Given the description of an element on the screen output the (x, y) to click on. 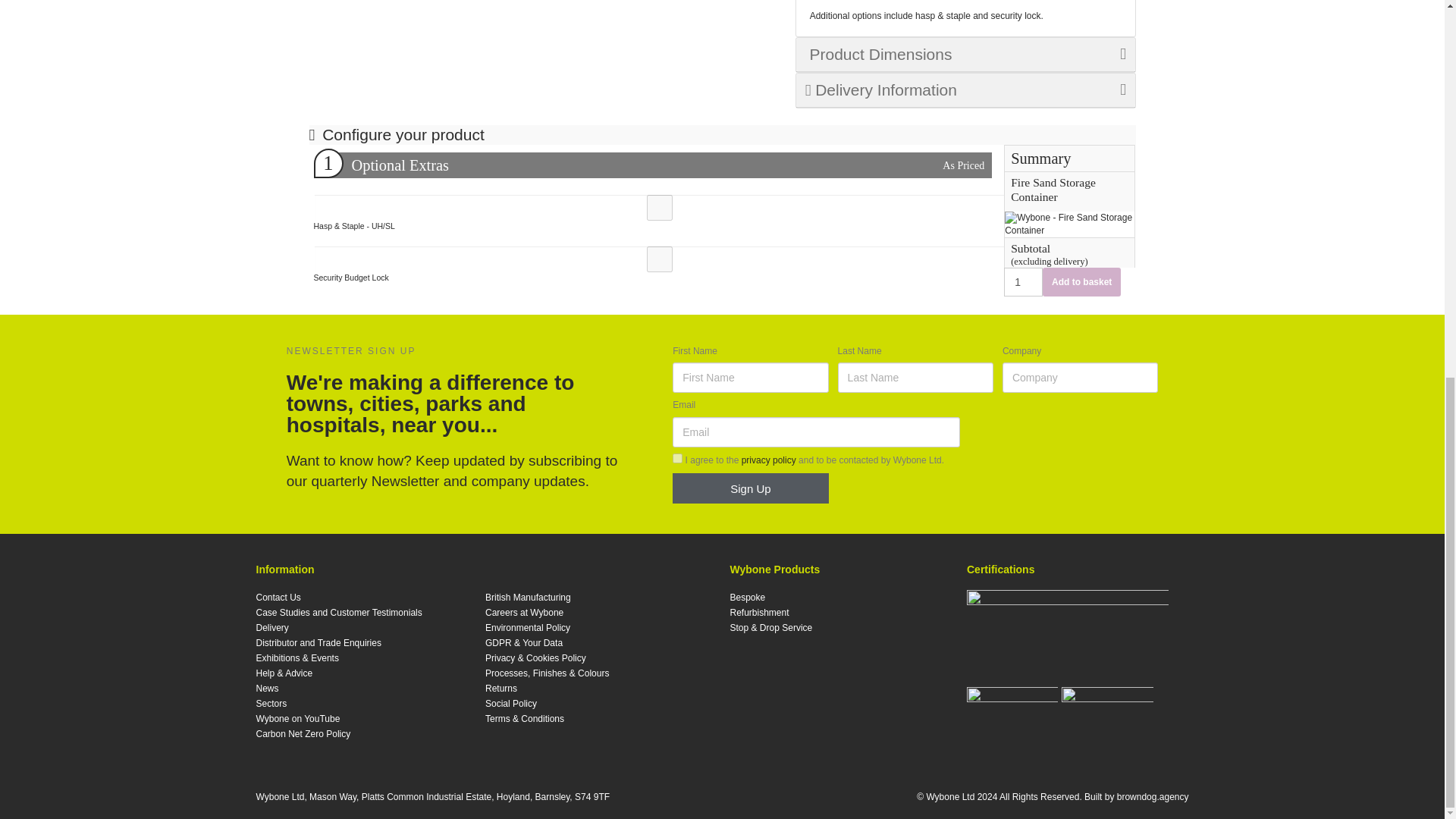
on (677, 458)
1 (1023, 281)
Qty (1023, 281)
